Given the description of an element on the screen output the (x, y) to click on. 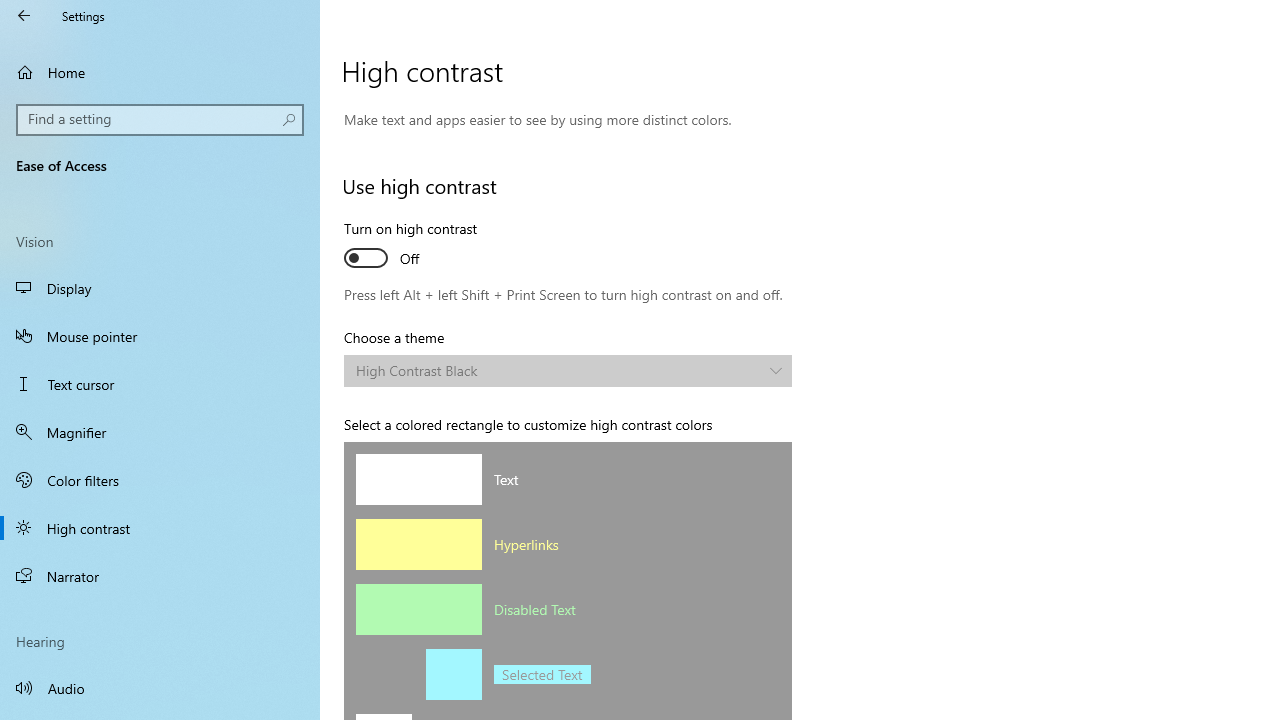
Magnifier (160, 431)
Text color (418, 479)
Back (24, 15)
Selected text background color (453, 673)
